Given the description of an element on the screen output the (x, y) to click on. 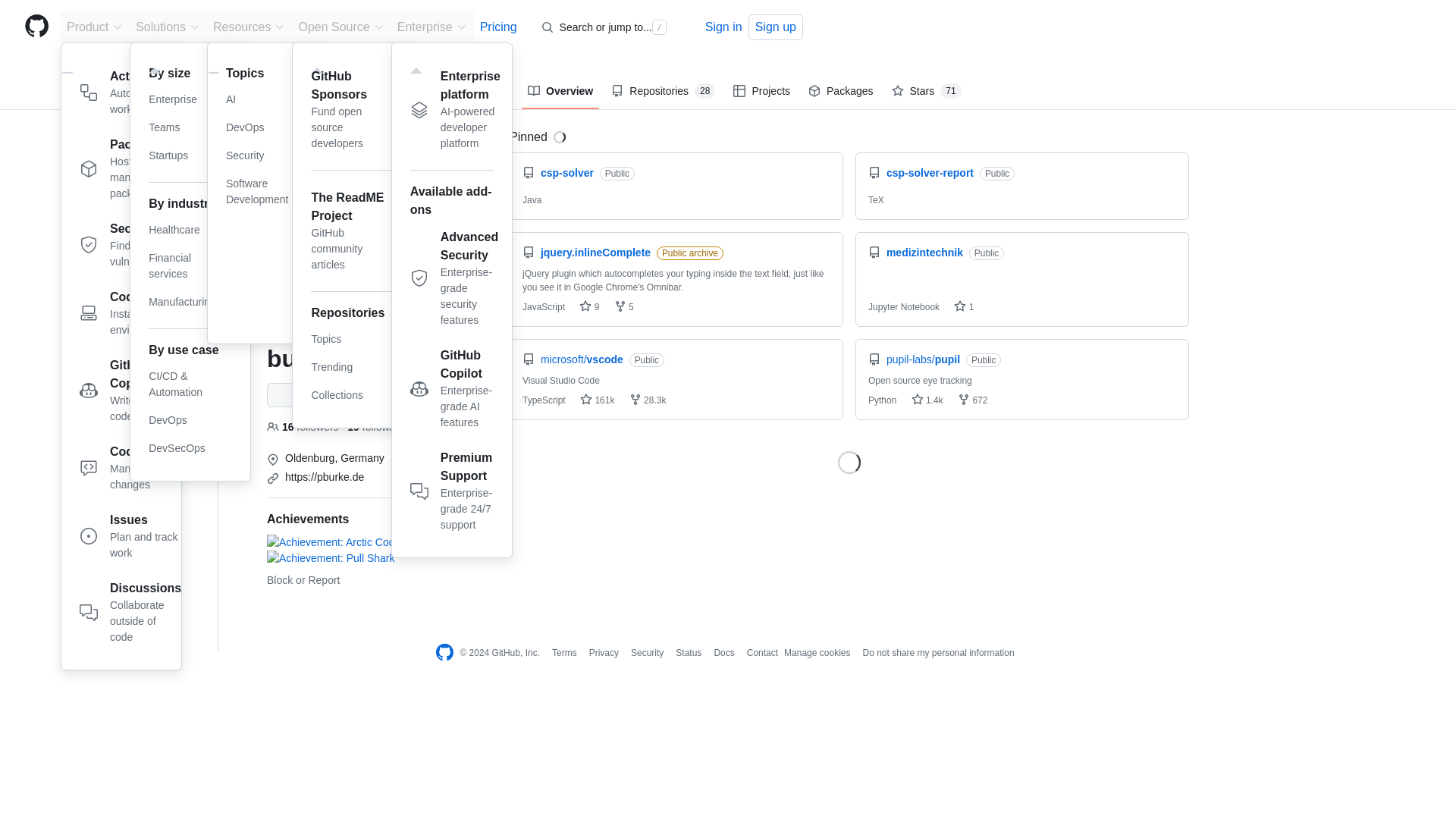
71 (950, 90)
Resources (249, 27)
Blog (130, 171)
Open Source (271, 215)
Skip to content (341, 27)
Manufacturing (130, 539)
GitHub Skills (189, 302)
DevOps (189, 155)
Enterprise (271, 179)
Security (130, 315)
